Given the description of an element on the screen output the (x, y) to click on. 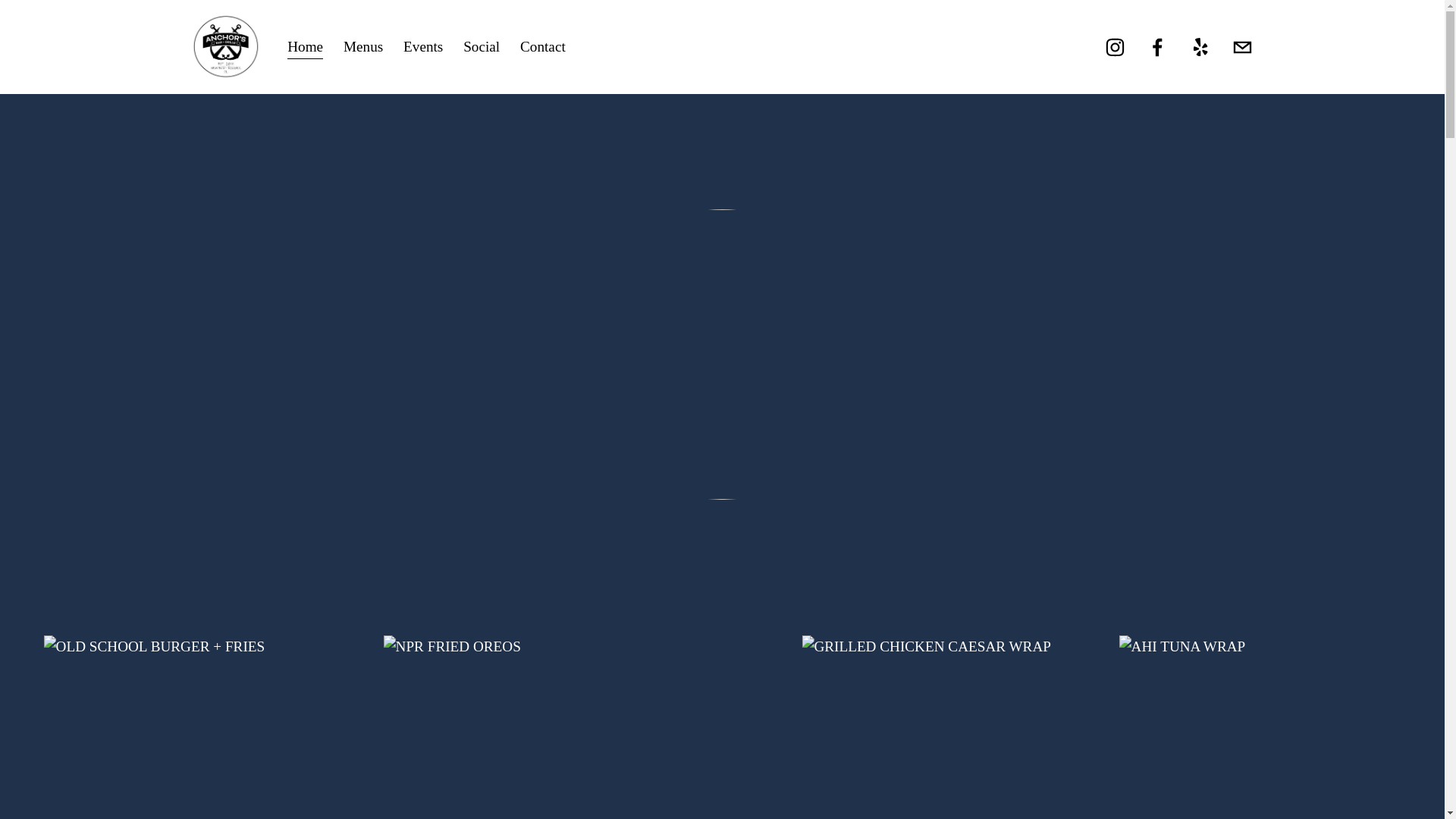
Events (422, 47)
Contact (542, 47)
Menus (362, 47)
Social (481, 47)
Home (304, 47)
